Given the description of an element on the screen output the (x, y) to click on. 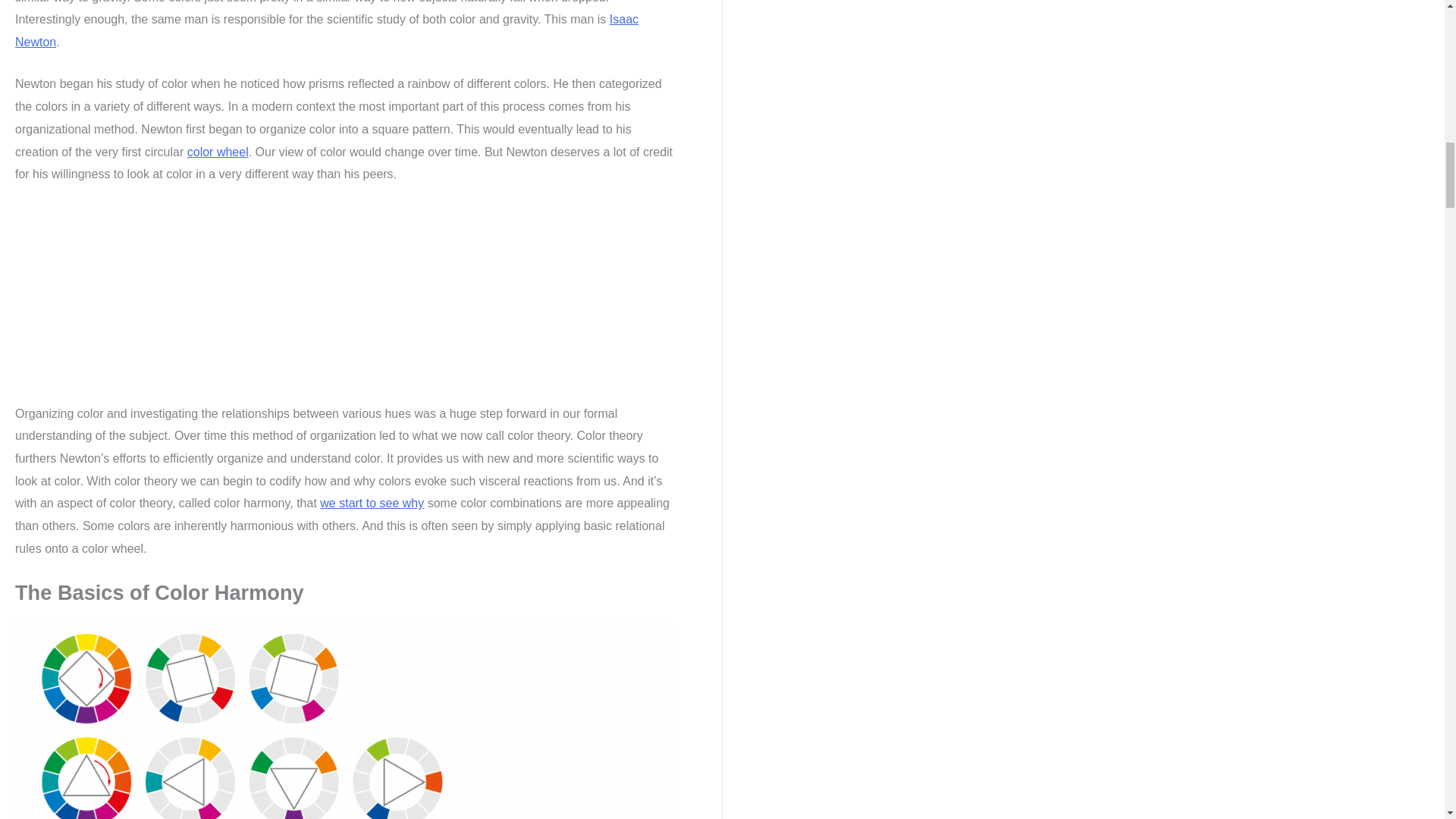
color wheel (217, 151)
Isaac Newton (326, 30)
we start to see why (371, 502)
